Given the description of an element on the screen output the (x, y) to click on. 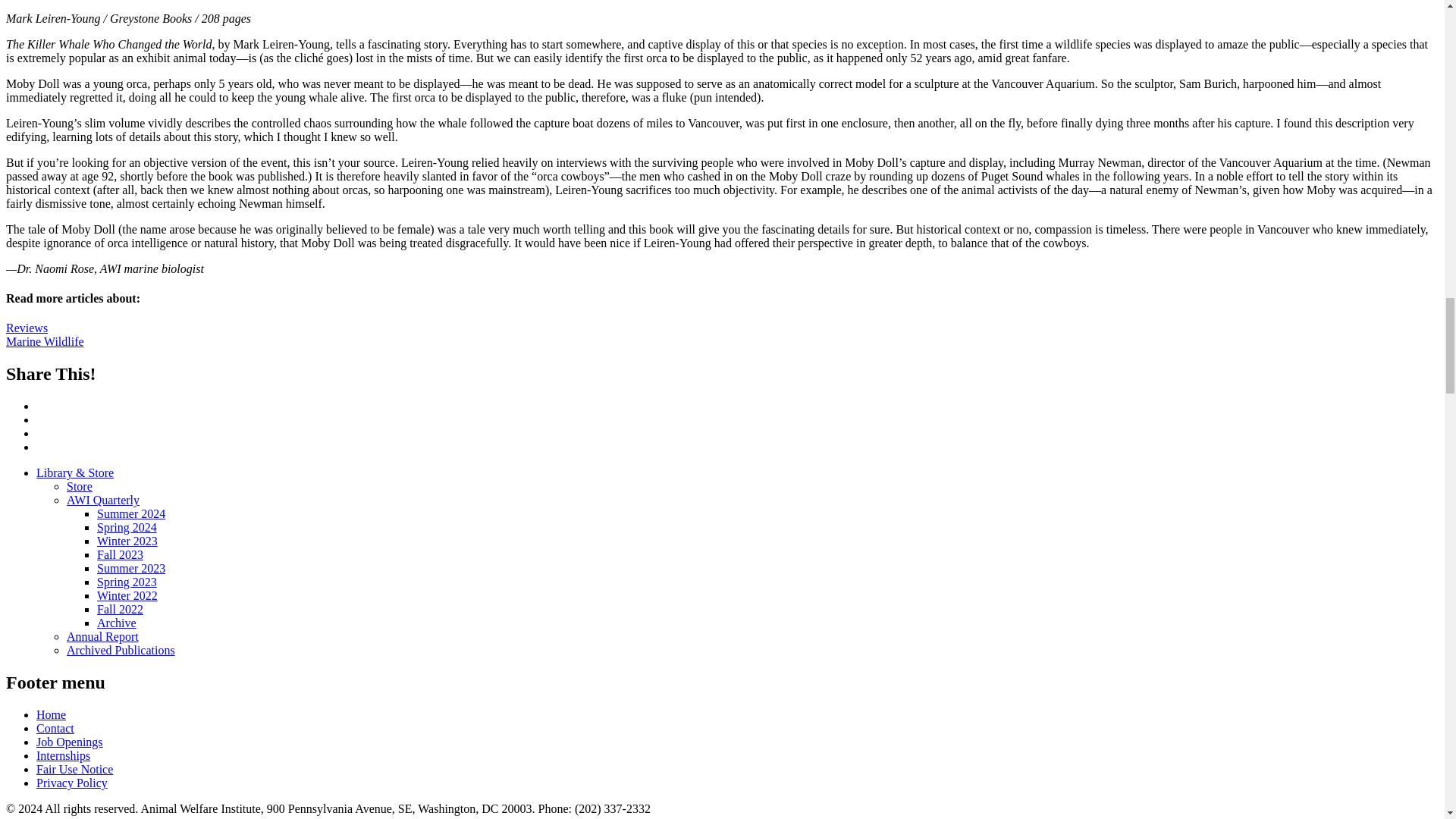
Fair Use Notice (74, 768)
Home (50, 714)
Privacy Policy (71, 782)
